Given the description of an element on the screen output the (x, y) to click on. 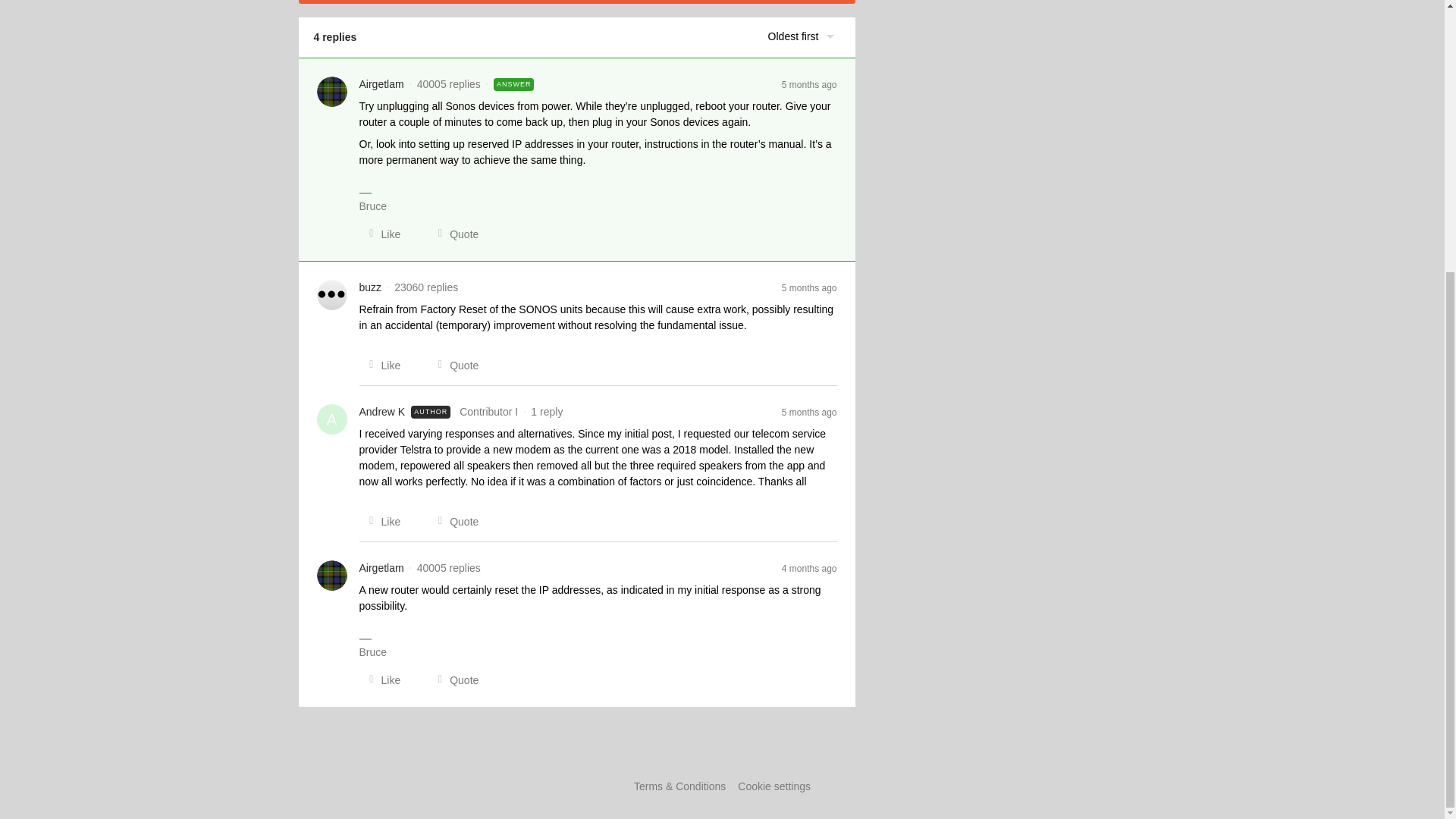
Andrew K (382, 412)
Airgetlam (381, 83)
Airgetlam (381, 568)
buzz (370, 287)
Visit Gainsight.com (722, 754)
